Given the description of an element on the screen output the (x, y) to click on. 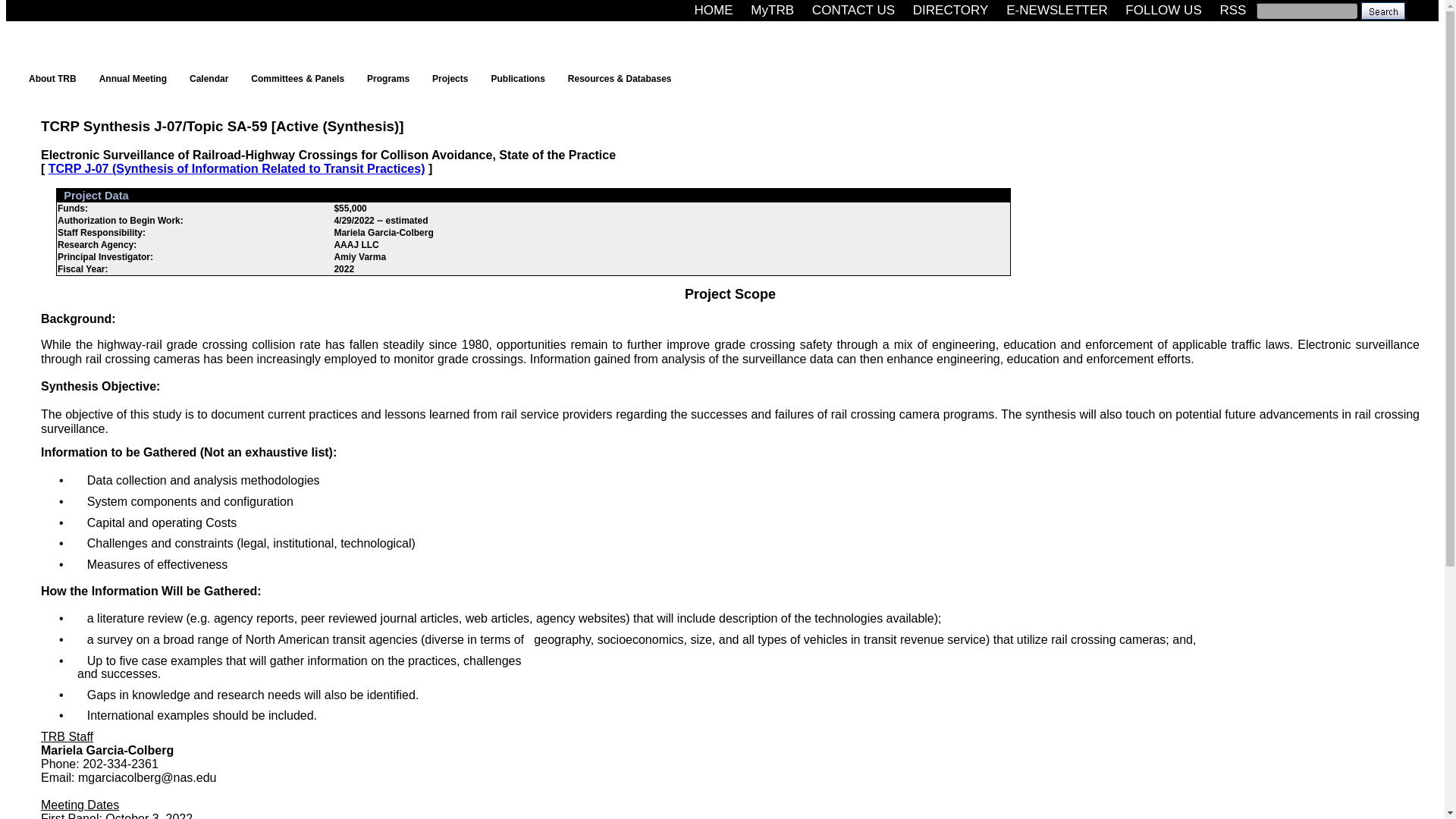
Follow Us (1163, 10)
E-NEWSLETTER (1056, 10)
Annual Meeting (136, 77)
FOLLOW US (1163, 10)
Contact Us (853, 10)
Home (714, 10)
HOME (714, 10)
My TRB (772, 10)
Click to search (1381, 9)
RSS (1232, 10)
